Given the description of an element on the screen output the (x, y) to click on. 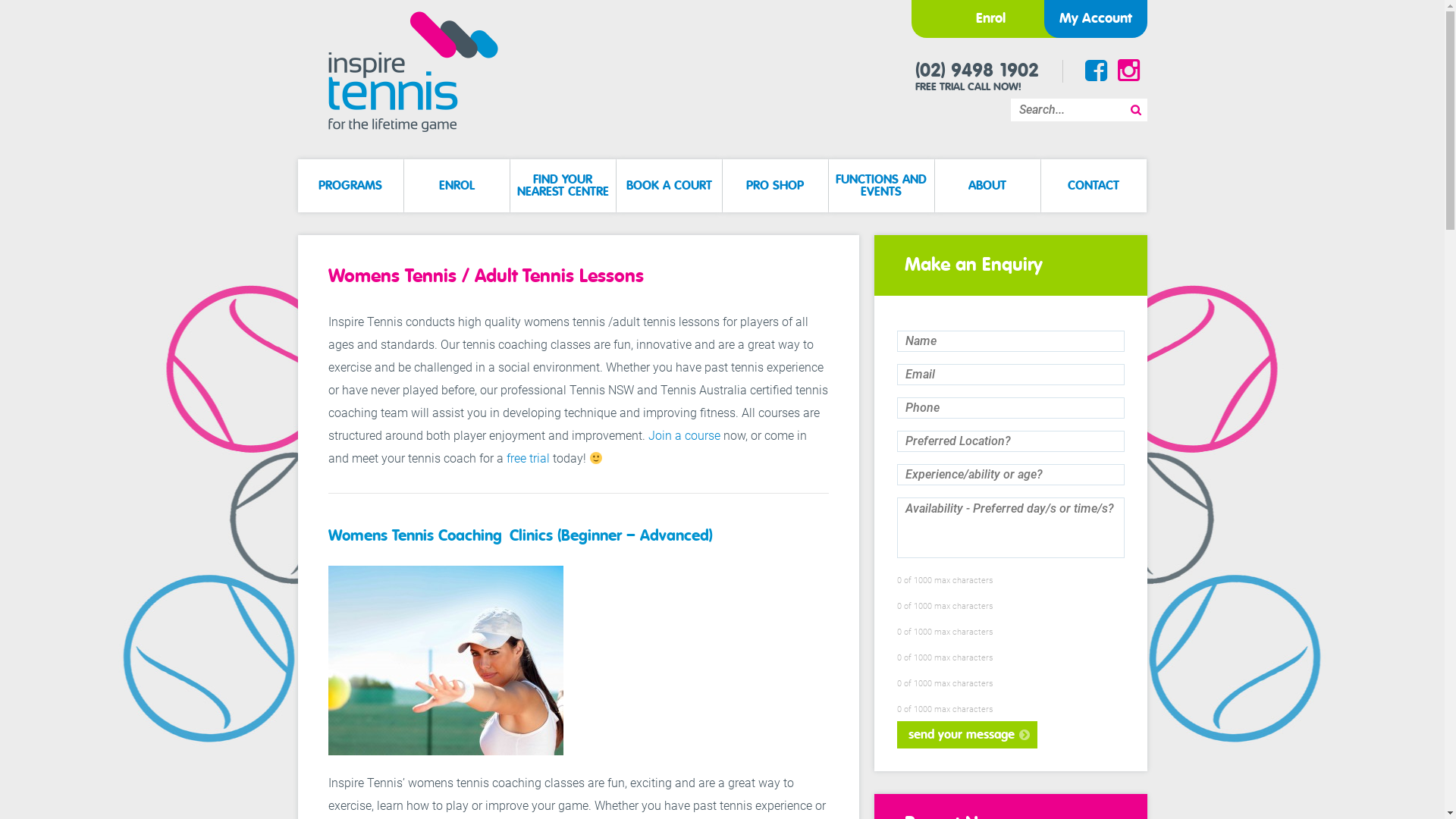
    Enrol     Element type: text (987, 18)
FIND YOUR NEAREST CENTRE Element type: text (562, 185)
free trial Element type: text (529, 458)
(02) 9498 1902 Element type: text (976, 71)
Join a course Element type: text (683, 435)
BOOK A COURT Element type: text (668, 185)
ABOUT Element type: text (986, 185)
My Account Element type: text (1094, 18)
Send Your Message Element type: text (966, 734)
CONTACT Element type: text (1092, 185)
ENROL Element type: text (455, 185)
FUNCTIONS AND EVENTS Element type: text (880, 185)
PROGRAMS Element type: text (349, 185)
PRO SHOP Element type: text (774, 185)
FREE TRIAL CALL NOW! Element type: text (967, 86)
